Given the description of an element on the screen output the (x, y) to click on. 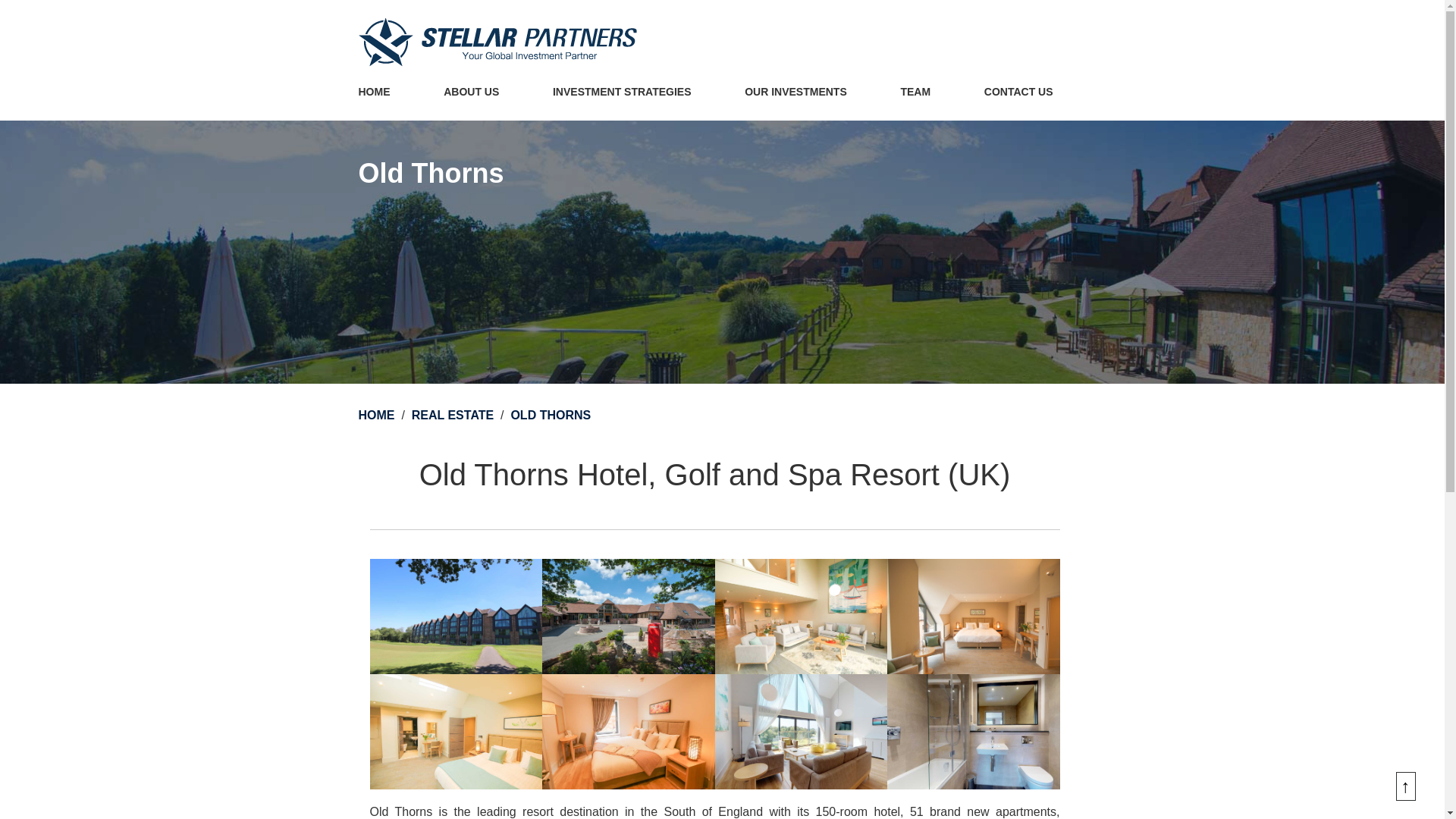
INVESTMENT STRATEGIES Element type: text (621, 92)
HOME Element type: text (375, 414)
OUR INVESTMENTS Element type: text (795, 92)
CONTACT US Element type: text (1018, 92)
ABOUT US Element type: text (470, 92)
HOME Element type: text (373, 92)
OLD THORNS Element type: text (550, 414)
TEAM Element type: text (915, 92)
REAL ESTATE Element type: text (452, 414)
